Given the description of an element on the screen output the (x, y) to click on. 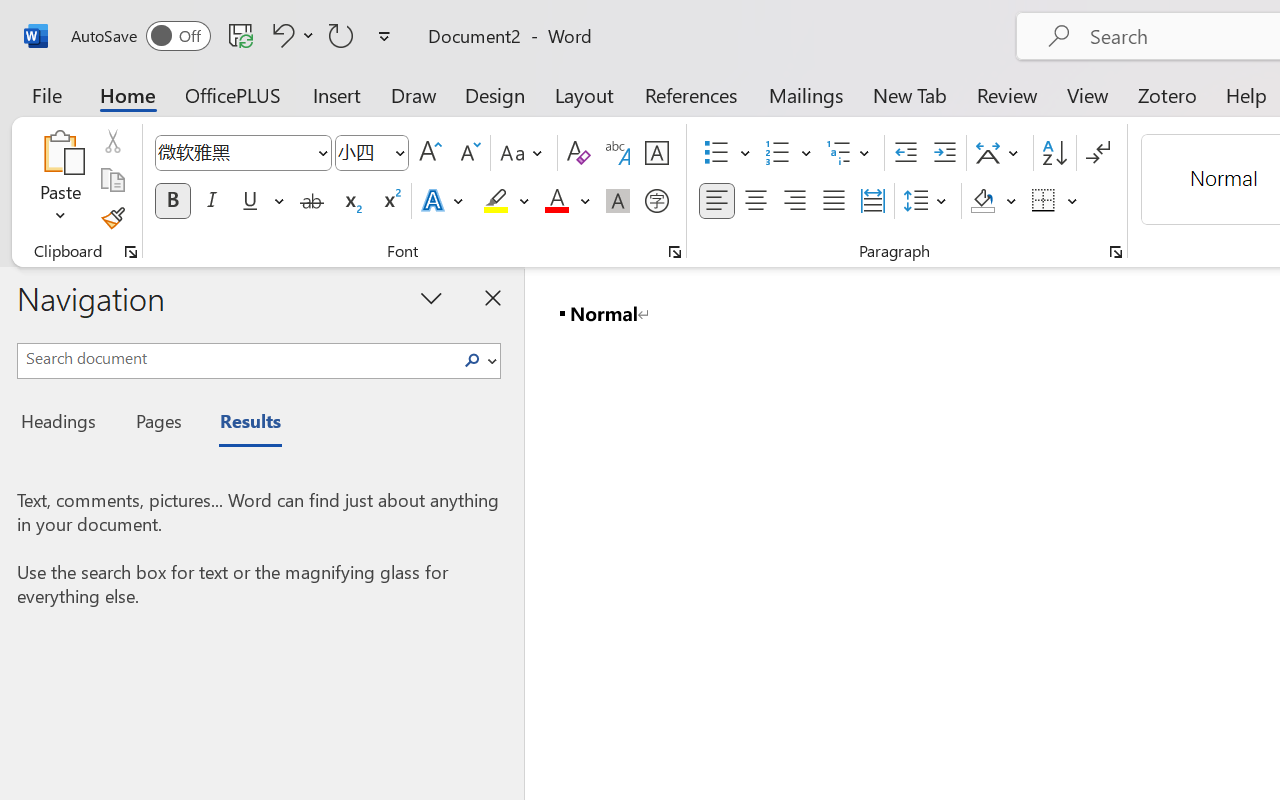
Search (471, 360)
Copy (112, 179)
Asian Layout (1000, 153)
Shrink Font (468, 153)
Font... (675, 252)
Task Pane Options (431, 297)
Insert (337, 94)
Font Color (567, 201)
Text Highlight Color (506, 201)
Change Case (524, 153)
Clear Formatting (578, 153)
Font Size (362, 152)
Paragraph... (1115, 252)
